Given the description of an element on the screen output the (x, y) to click on. 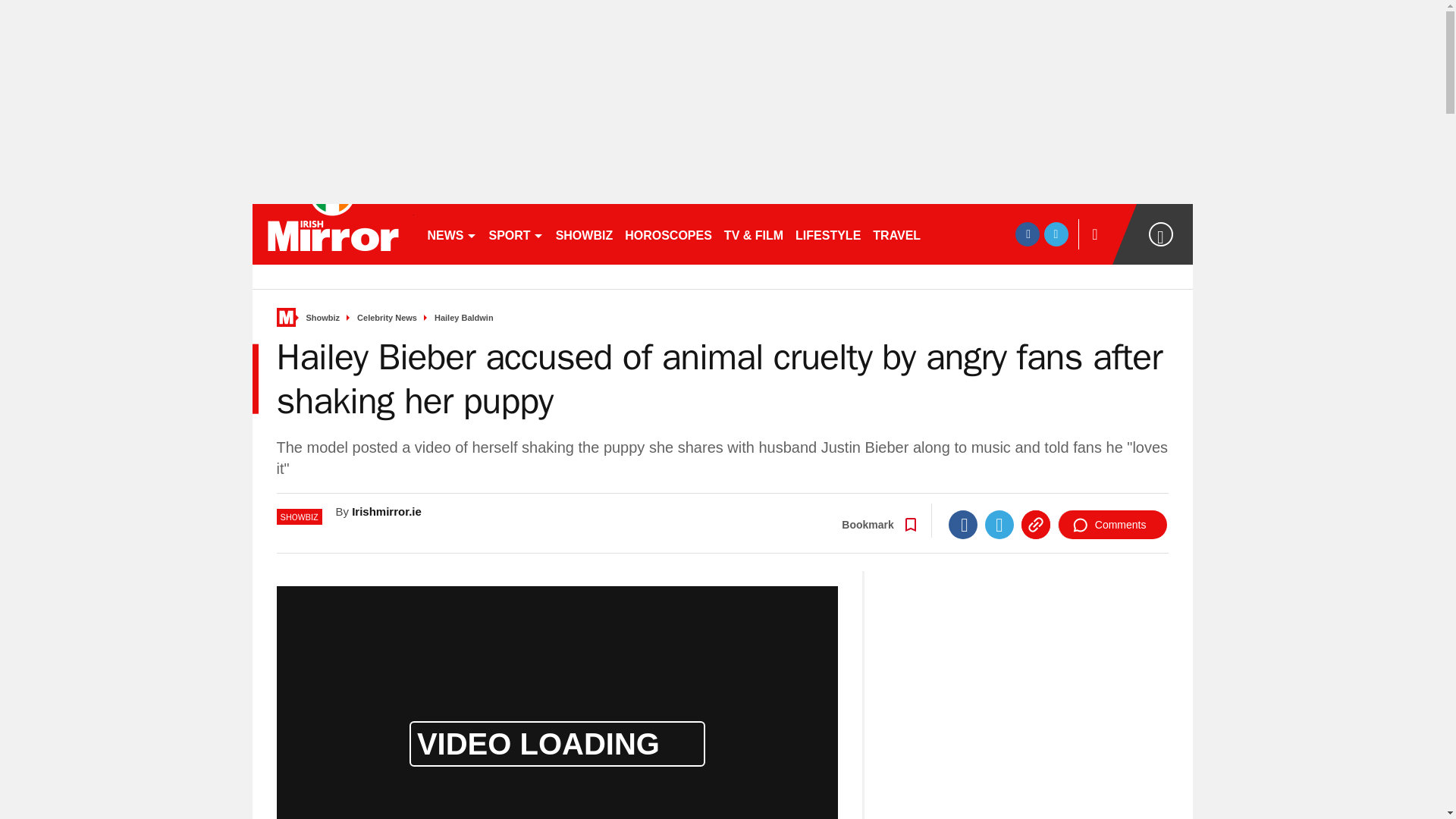
HOROSCOPES (667, 233)
LIFESTYLE (827, 233)
facebook (1026, 233)
Facebook (962, 524)
TRAVEL (896, 233)
SHOWBIZ (585, 233)
Comments (1112, 524)
SPORT (514, 233)
twitter (1055, 233)
irishmirror (332, 233)
PROPERTY (966, 233)
NEWS (452, 233)
Twitter (999, 524)
